Given the description of an element on the screen output the (x, y) to click on. 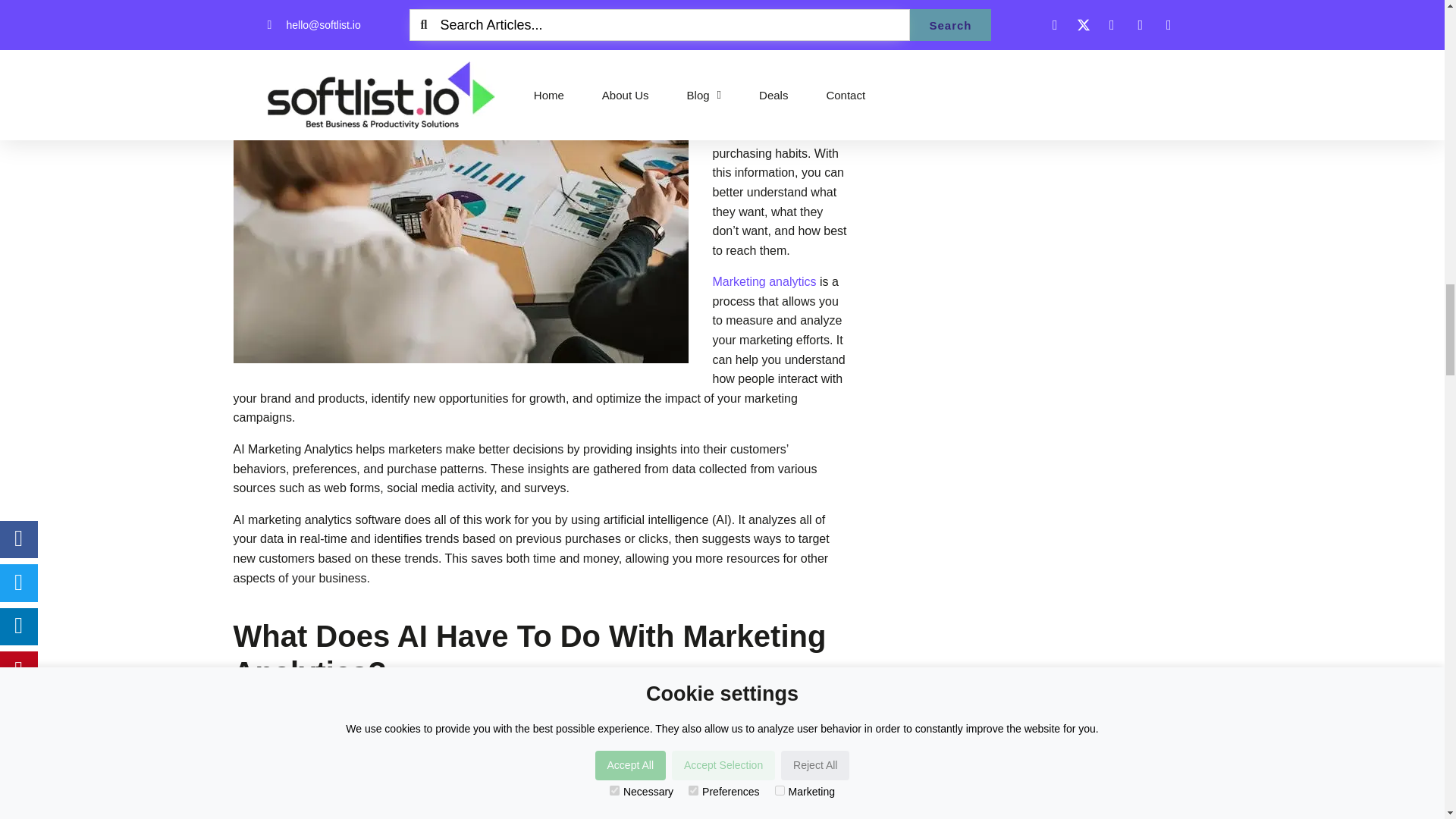
AI Marketing Analytics: Exploring the Latest Advancements 5 (619, 757)
